Given the description of an element on the screen output the (x, y) to click on. 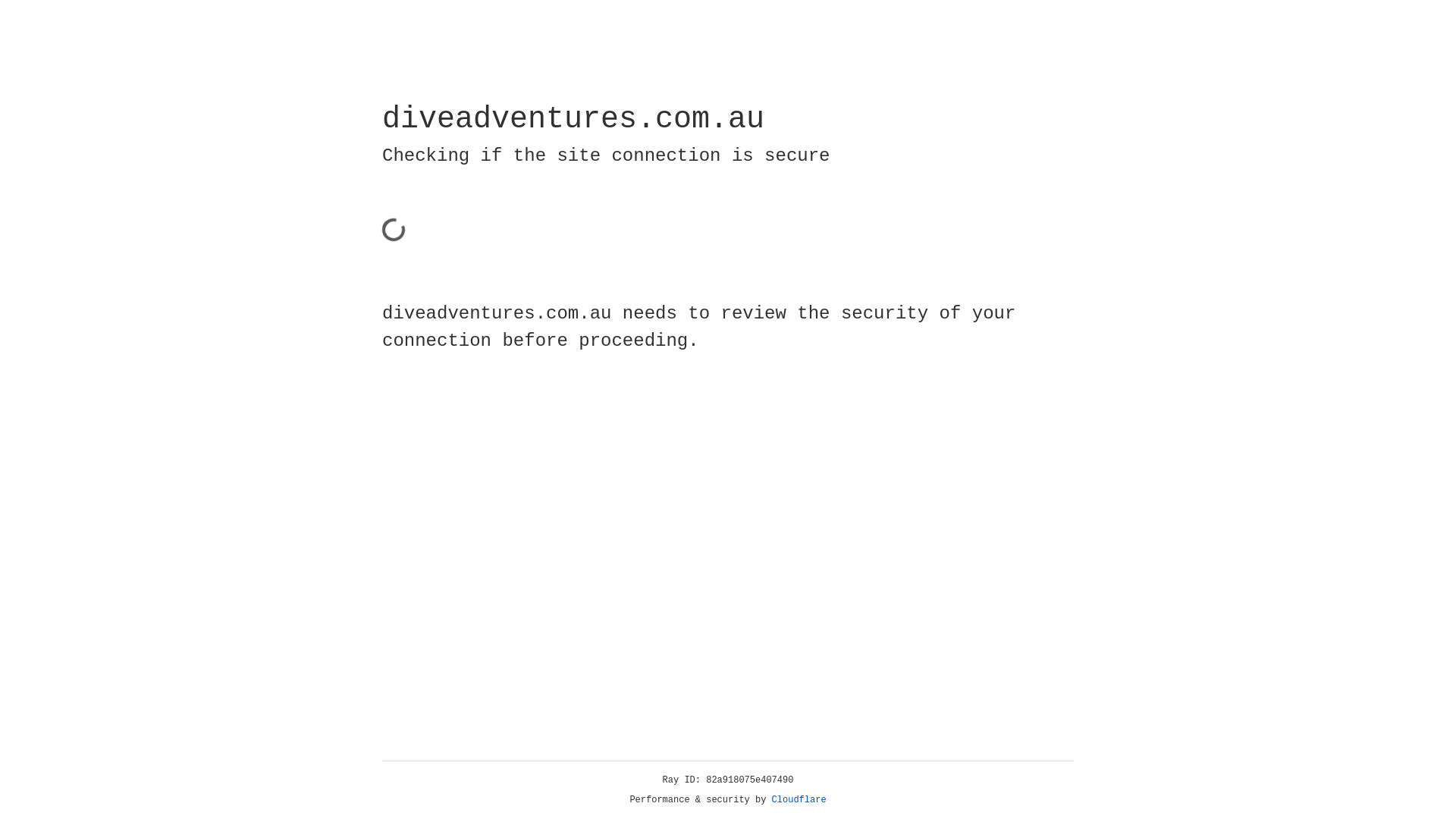
Cloudflare Element type: text (798, 799)
